Given the description of an element on the screen output the (x, y) to click on. 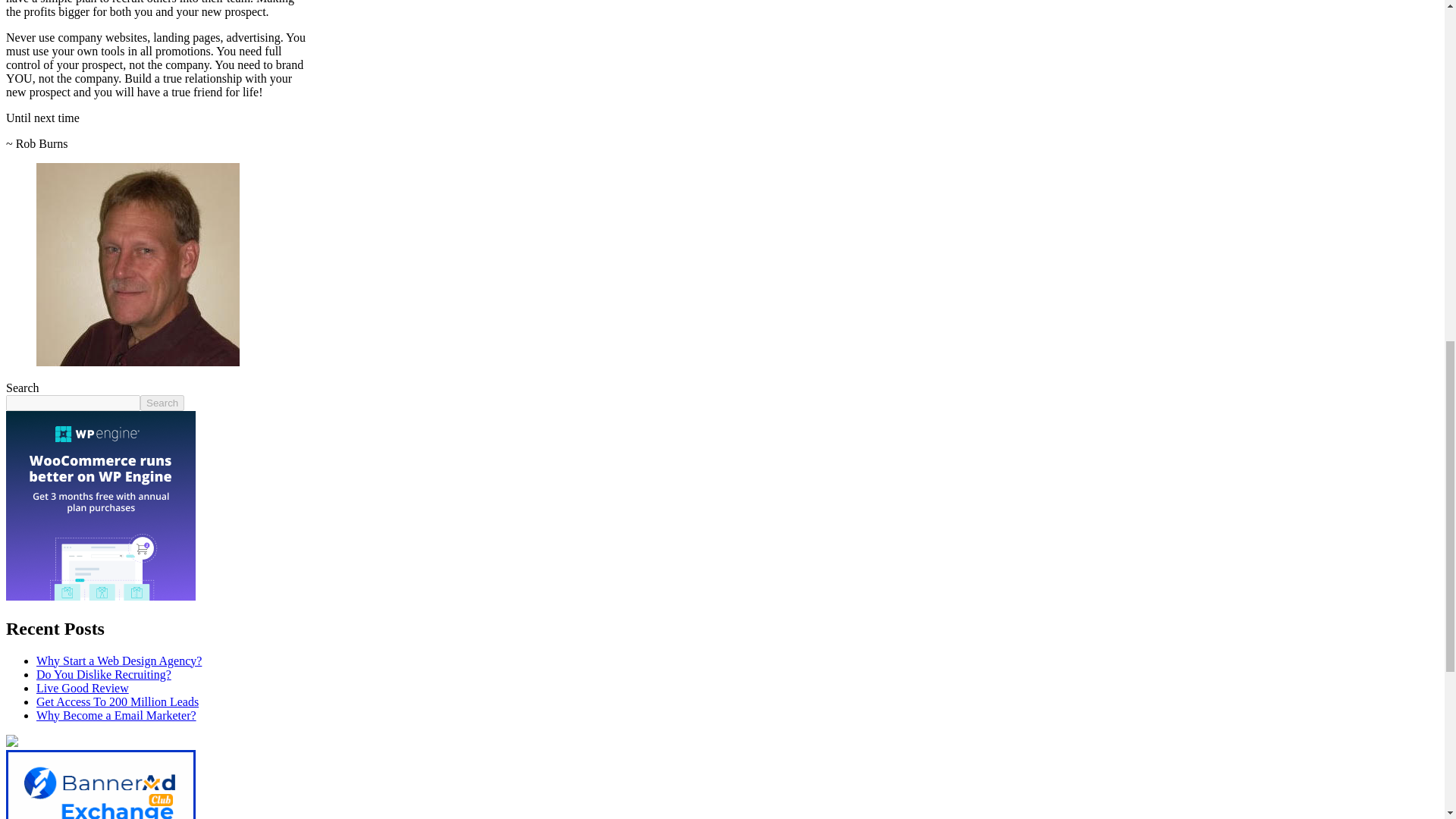
Do You Dislike Recruiting? (103, 674)
Get Access To 200 Million Leads (117, 701)
Why Start a Web Design Agency? (119, 660)
Live Good Review (82, 687)
Search (161, 402)
Why Become a Email Marketer? (116, 715)
